Given the description of an element on the screen output the (x, y) to click on. 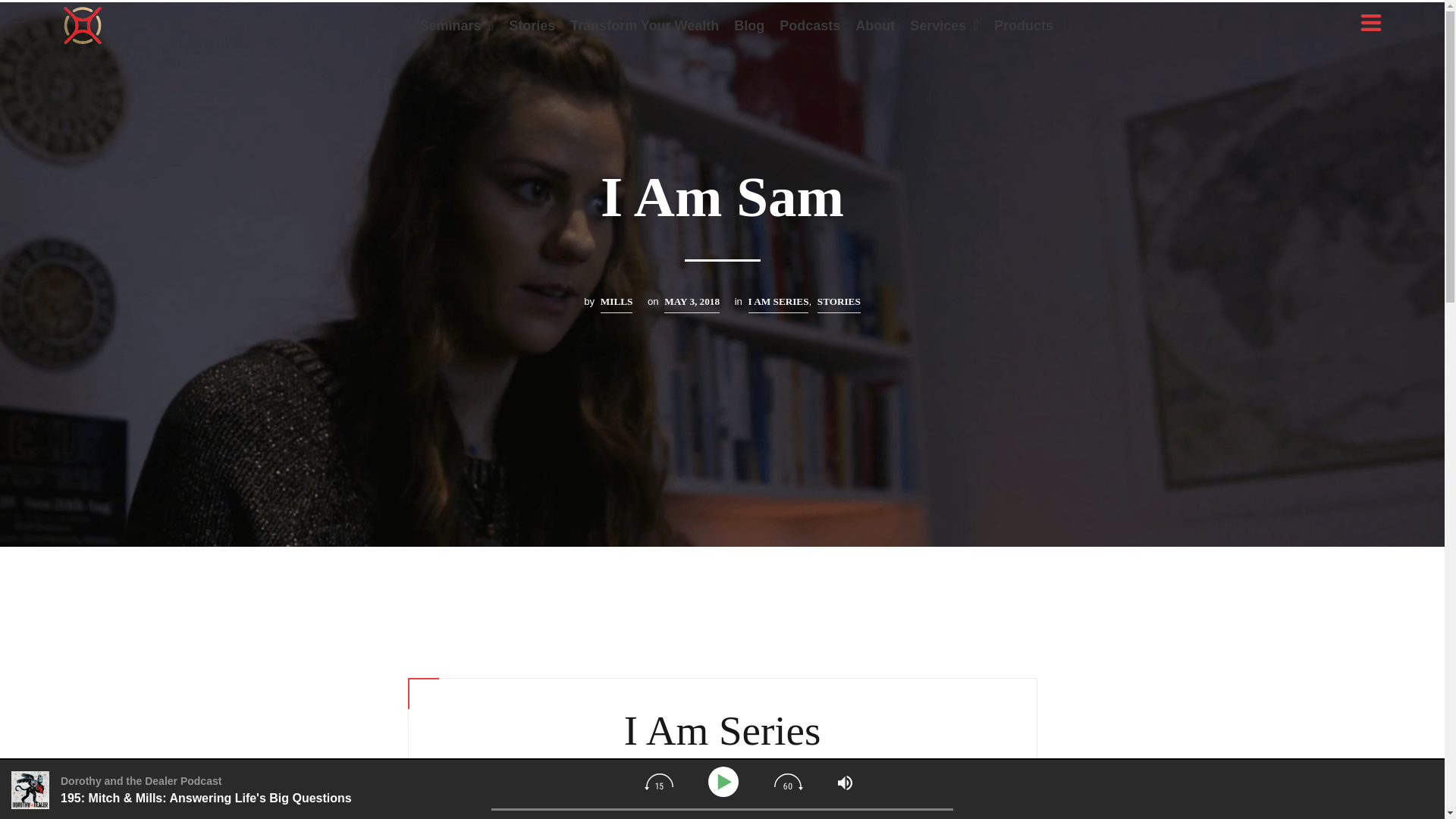
Podcasts (809, 25)
MAY 3, 2018 (691, 303)
Products (1024, 25)
STORIES (838, 303)
Services (944, 25)
About (874, 25)
Blog (748, 25)
MJB-Seminars-Logo-Icon-213 (82, 25)
Forward 60 seconds (788, 781)
Back 15 seconds (658, 781)
MILLS (616, 303)
Seminars (457, 25)
Stories (531, 25)
Permalink to I Am Sam (691, 303)
Transform Your Wealth (644, 25)
